Given the description of an element on the screen output the (x, y) to click on. 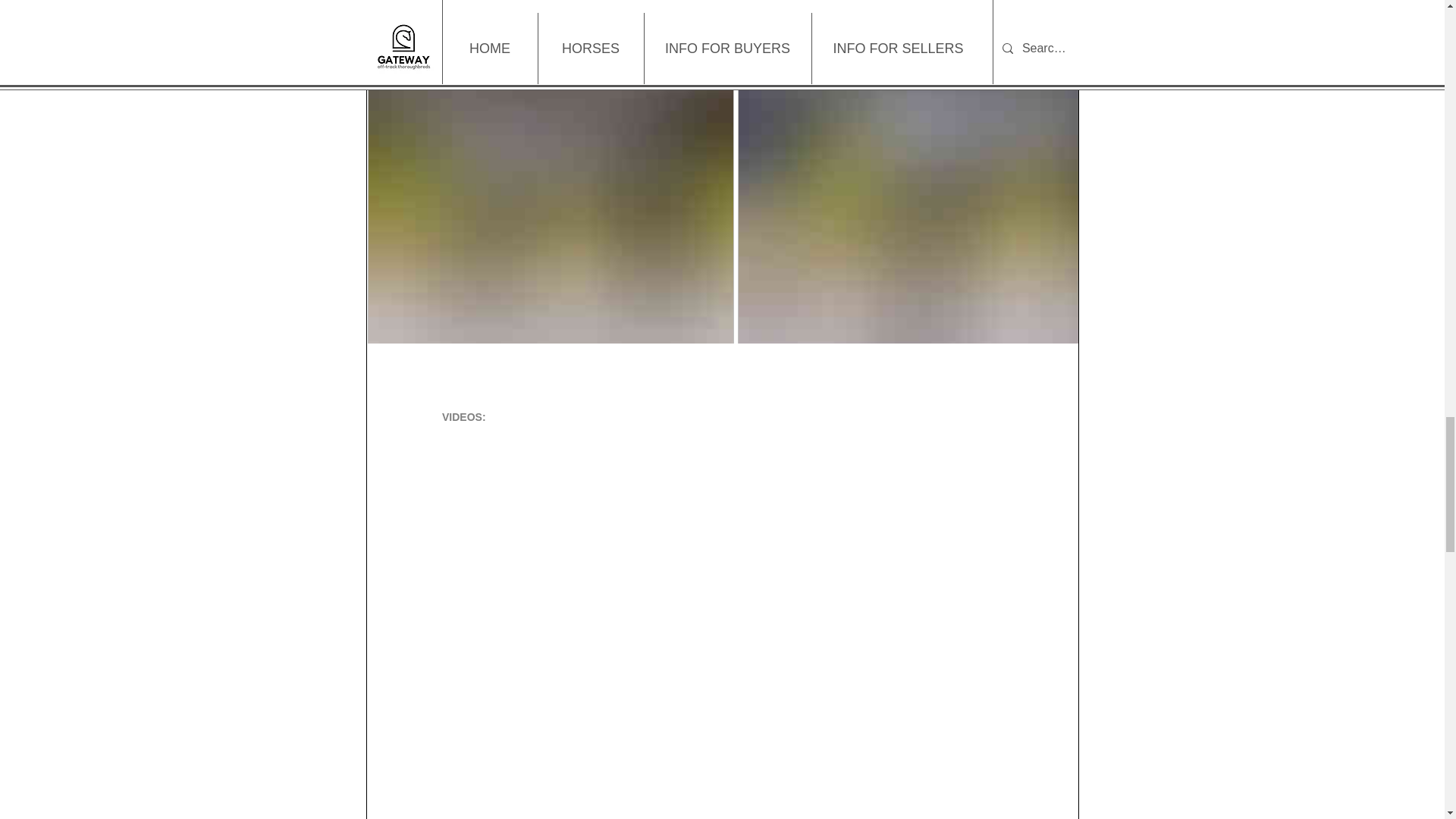
ricos-video (722, 515)
